Given the description of an element on the screen output the (x, y) to click on. 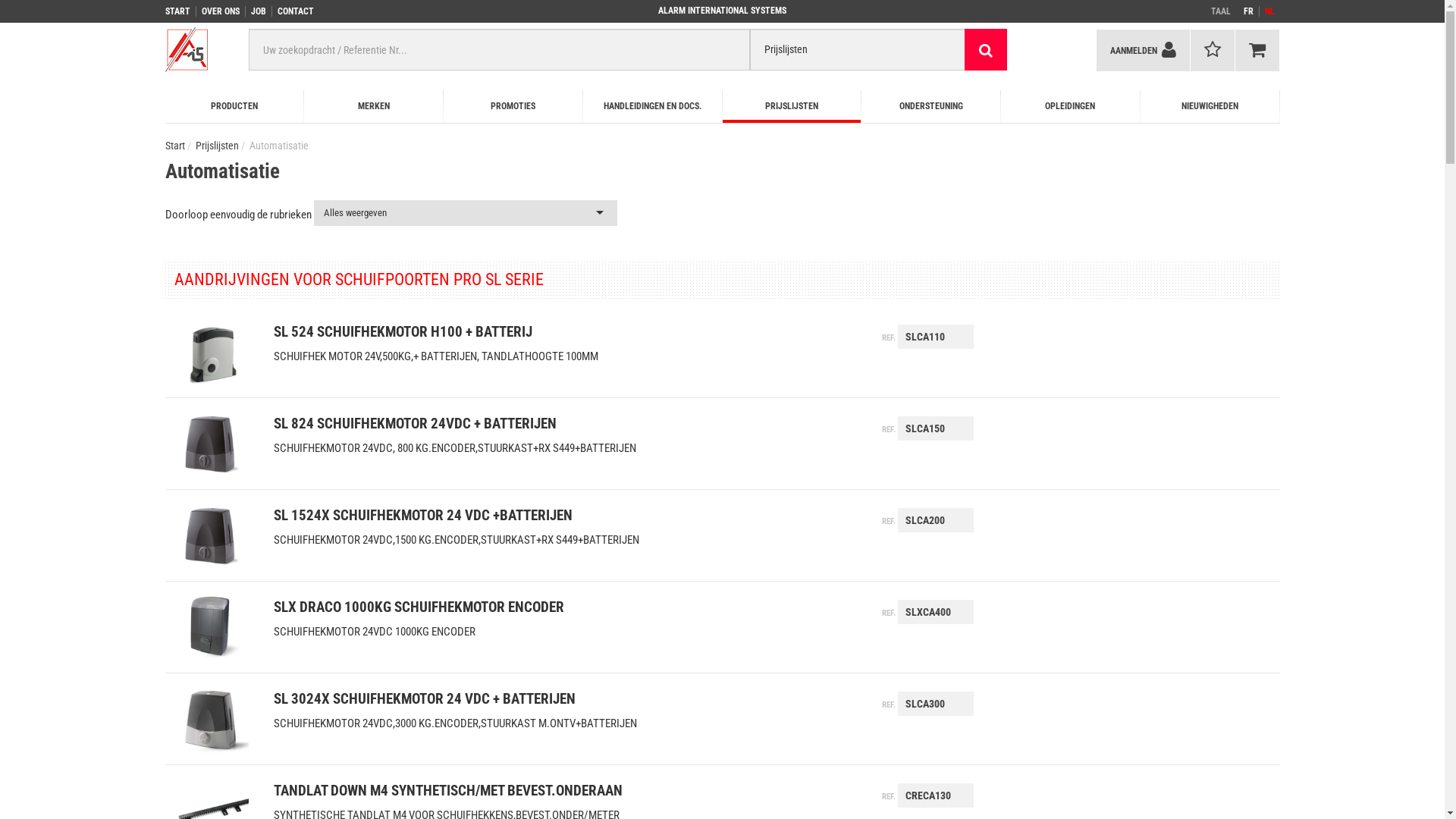
START Element type: text (180, 11)
ONDERSTEUNING Element type: text (931, 106)
Start Element type: text (175, 145)
PROMOTIES Element type: text (513, 106)
CONTACT Element type: text (298, 11)
FR Element type: text (1251, 11)
NL Element type: text (1272, 11)
PRODUCTEN Element type: text (234, 106)
NIEUWIGHEDEN Element type: text (1210, 106)
AANMELDEN   Element type: text (1142, 50)
JOB Element type: text (260, 11)
OVER ONS Element type: text (223, 11)
Prijslijsten Element type: text (216, 145)
OPLEIDINGEN Element type: text (1070, 106)
MERKEN Element type: text (373, 106)
HANDLEIDINGEN EN DOCS. Element type: text (652, 106)
PRIJSLIJSTEN Element type: text (791, 106)
